Given the description of an element on the screen output the (x, y) to click on. 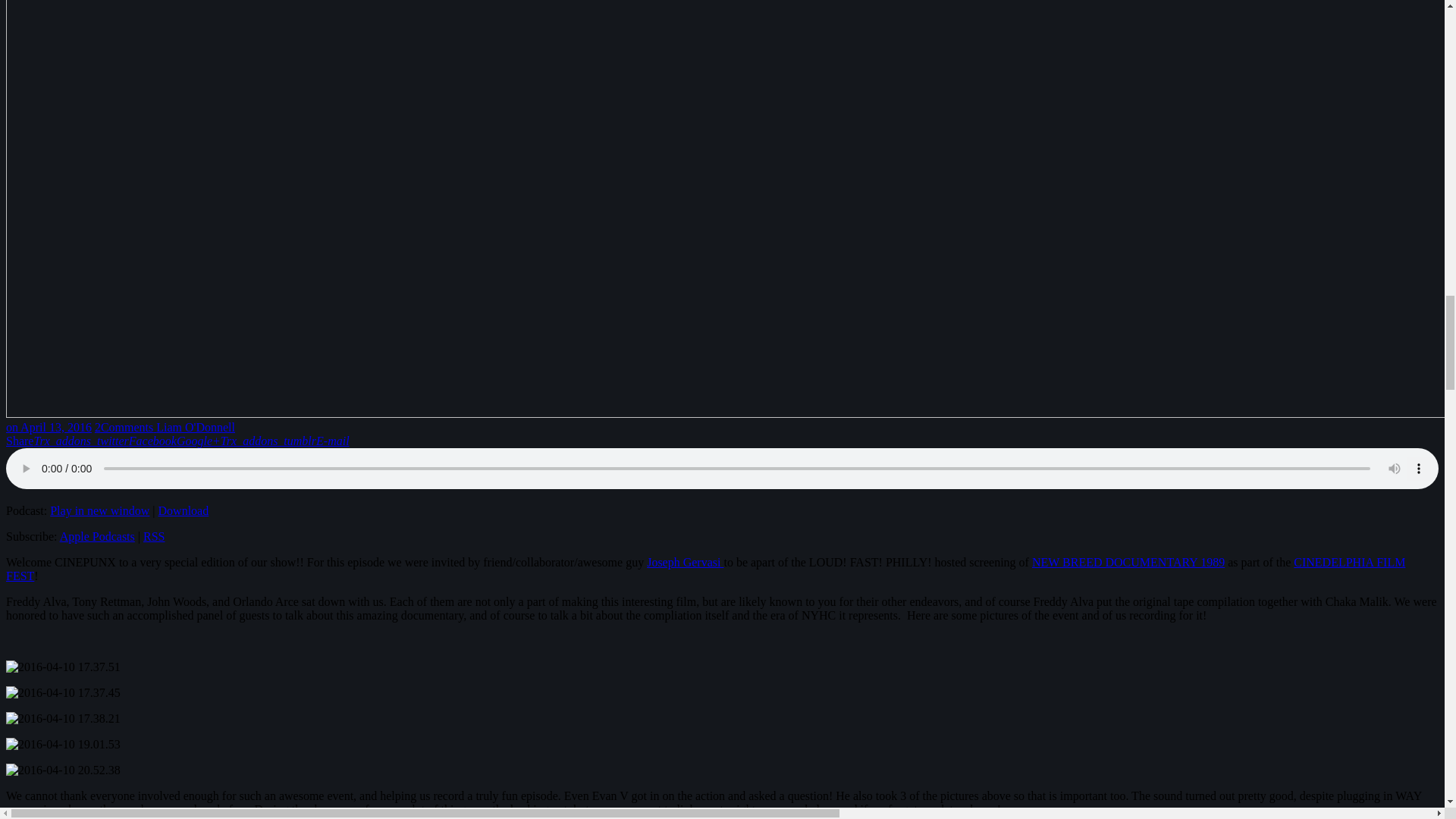
Subscribe via RSS (153, 535)
Play in new window (99, 510)
Download (183, 510)
Subscribe on Apple Podcasts (97, 535)
